Given the description of an element on the screen output the (x, y) to click on. 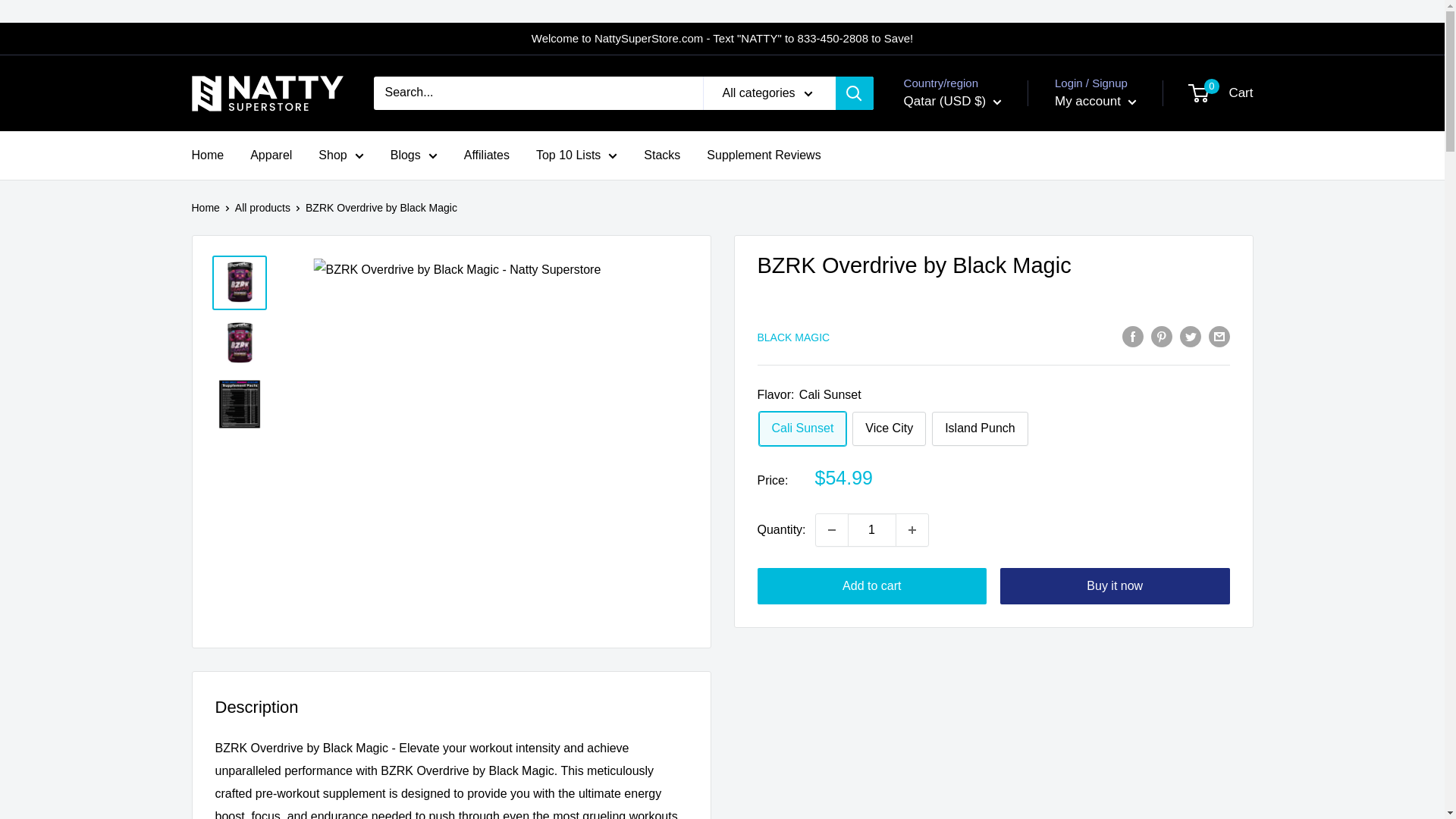
1 (871, 530)
Island Punch (979, 428)
Increase quantity by 1 (912, 530)
Decrease quantity by 1 (831, 530)
Cali Sunset (801, 428)
Vice City (888, 428)
